Given the description of an element on the screen output the (x, y) to click on. 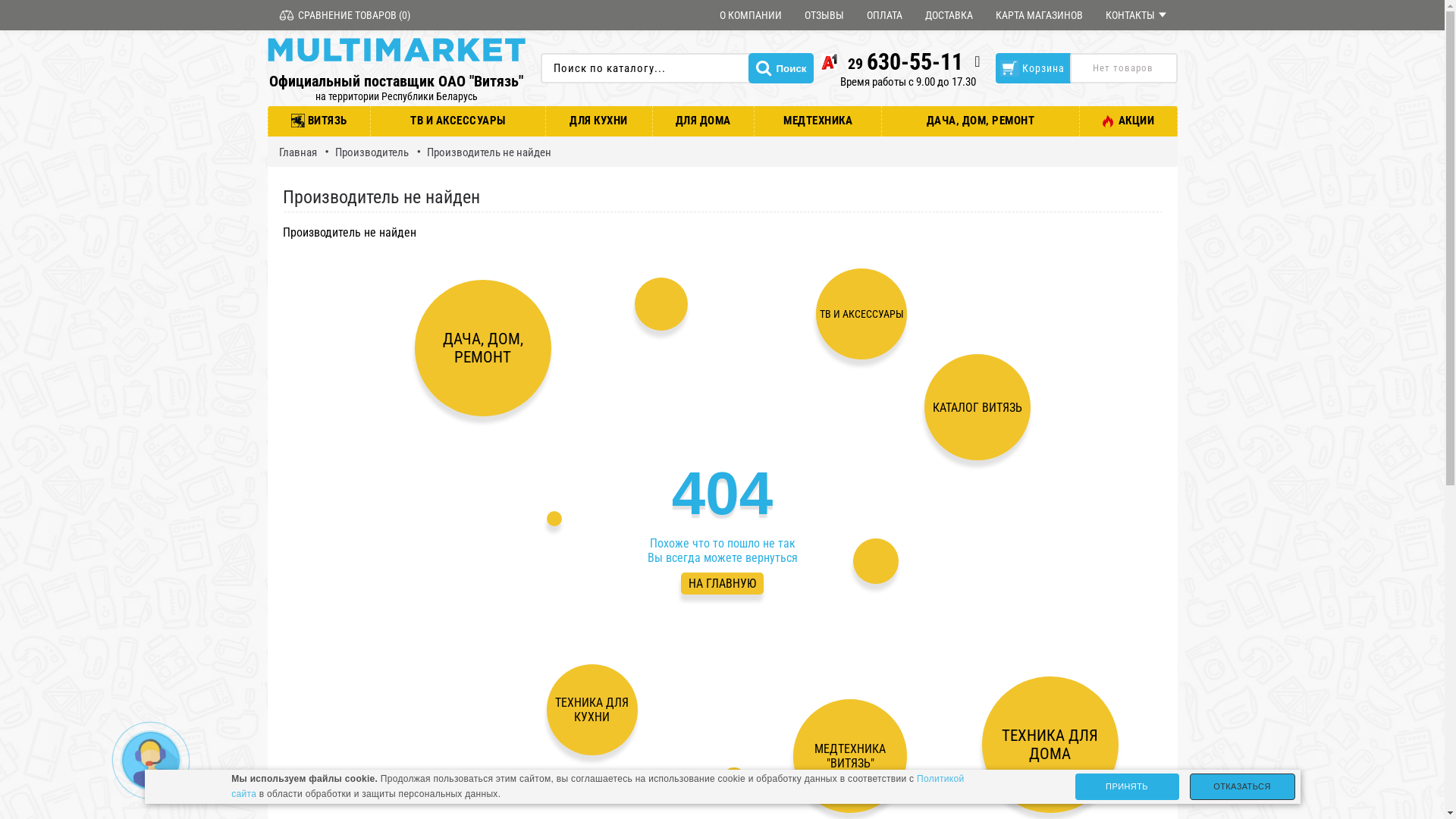
29630-55-11 Element type: text (891, 61)
